Given the description of an element on the screen output the (x, y) to click on. 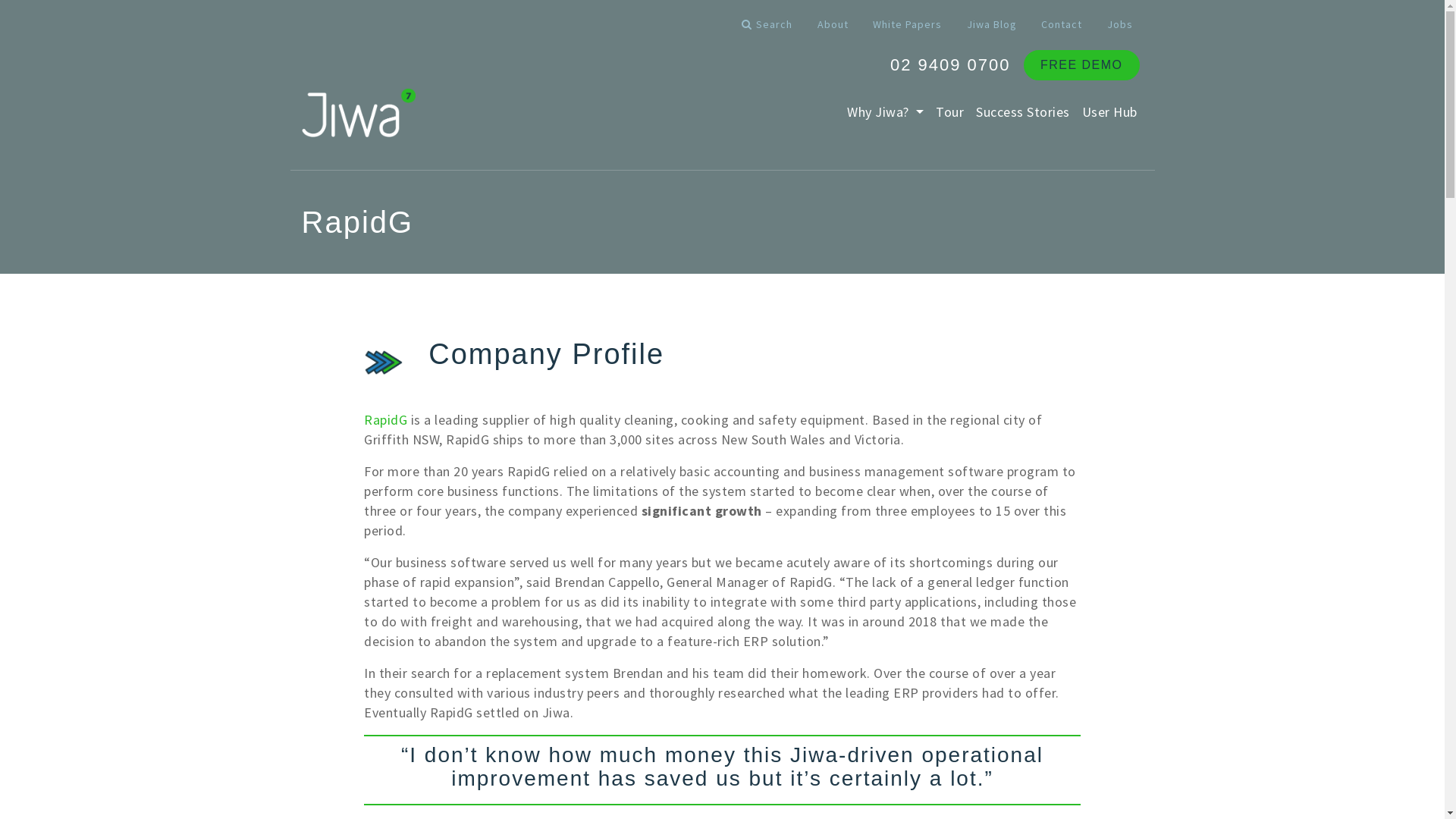
Success Stories Element type: text (1022, 112)
User Hub Element type: text (1108, 112)
RapidG Element type: text (385, 419)
Jiwa Blog Element type: text (990, 24)
Search Element type: text (767, 24)
Tour Element type: text (949, 112)
White Papers Element type: text (907, 24)
Jobs Element type: text (1119, 24)
About Element type: text (832, 24)
Why Jiwa? Element type: text (884, 112)
Contact Element type: text (1061, 24)
02 9409 0700 Element type: text (950, 65)
